Given the description of an element on the screen output the (x, y) to click on. 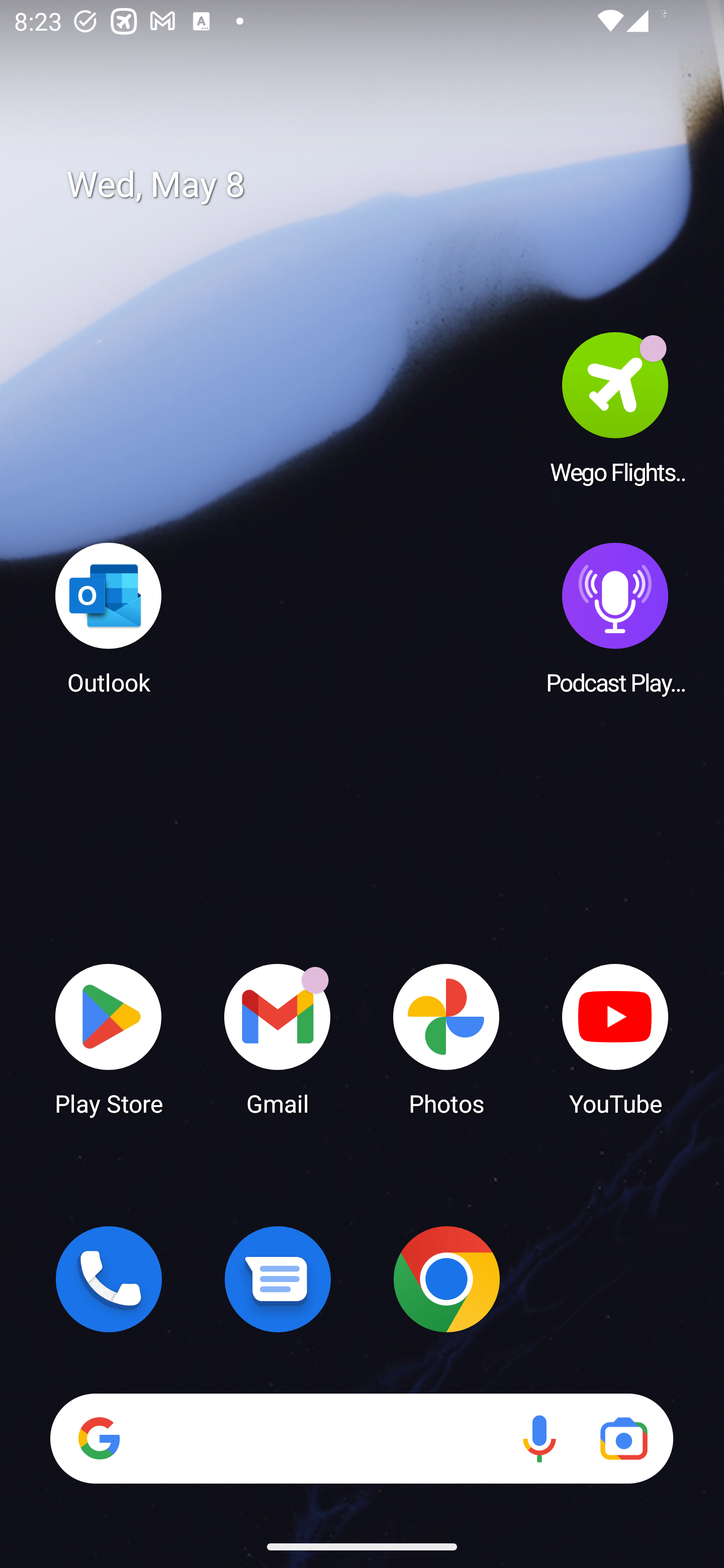
Wed, May 8 (375, 184)
Outlook (108, 617)
Podcast Player (615, 617)
Play Store (108, 1038)
Gmail Gmail has 17 notifications (277, 1038)
Photos (445, 1038)
YouTube (615, 1038)
Phone (108, 1279)
Messages (277, 1279)
Chrome (446, 1279)
Search Voice search Google Lens (361, 1438)
Voice search (539, 1438)
Google Lens (623, 1438)
